Given the description of an element on the screen output the (x, y) to click on. 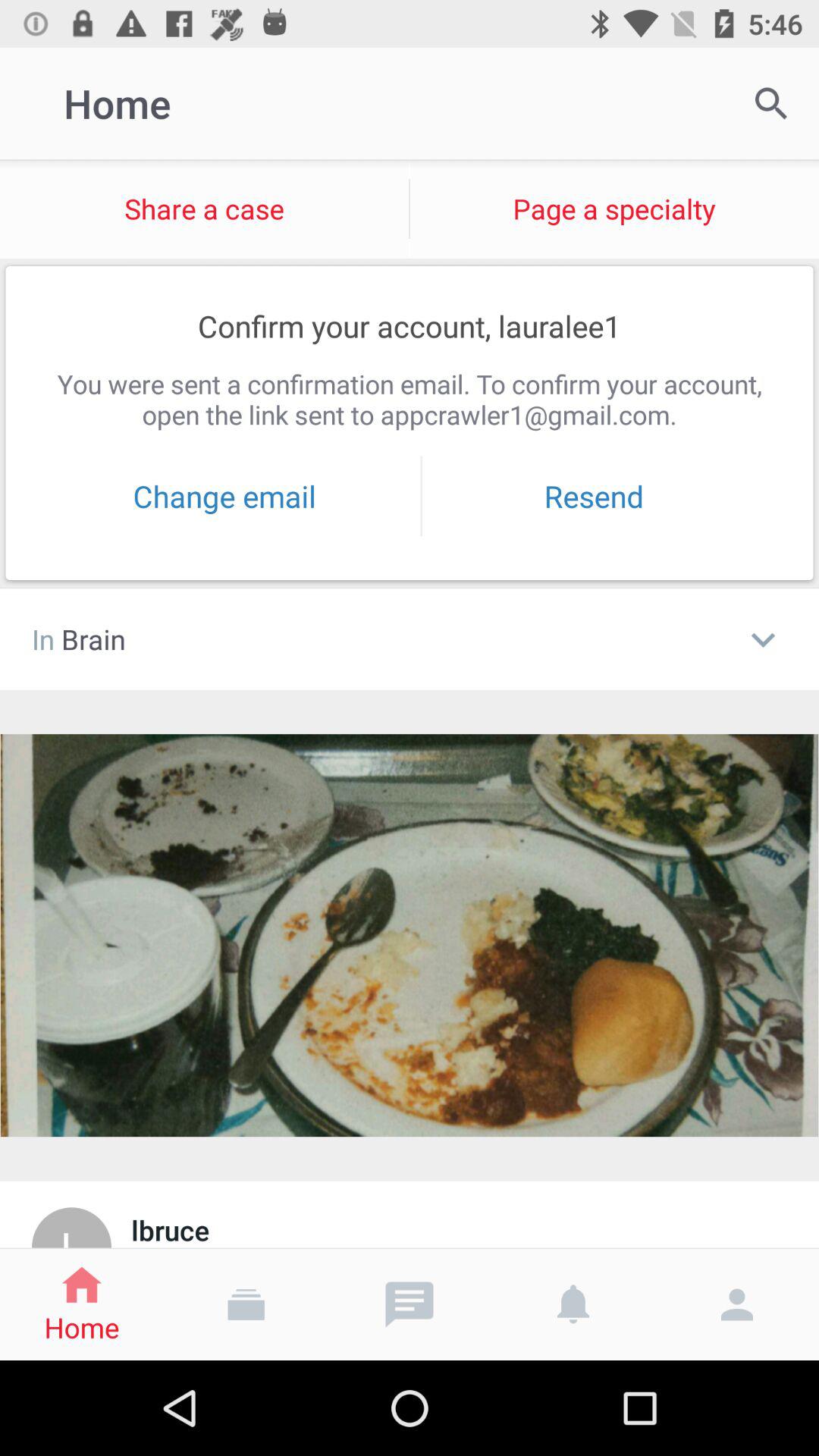
turn off the item above in brain icon (224, 496)
